Given the description of an element on the screen output the (x, y) to click on. 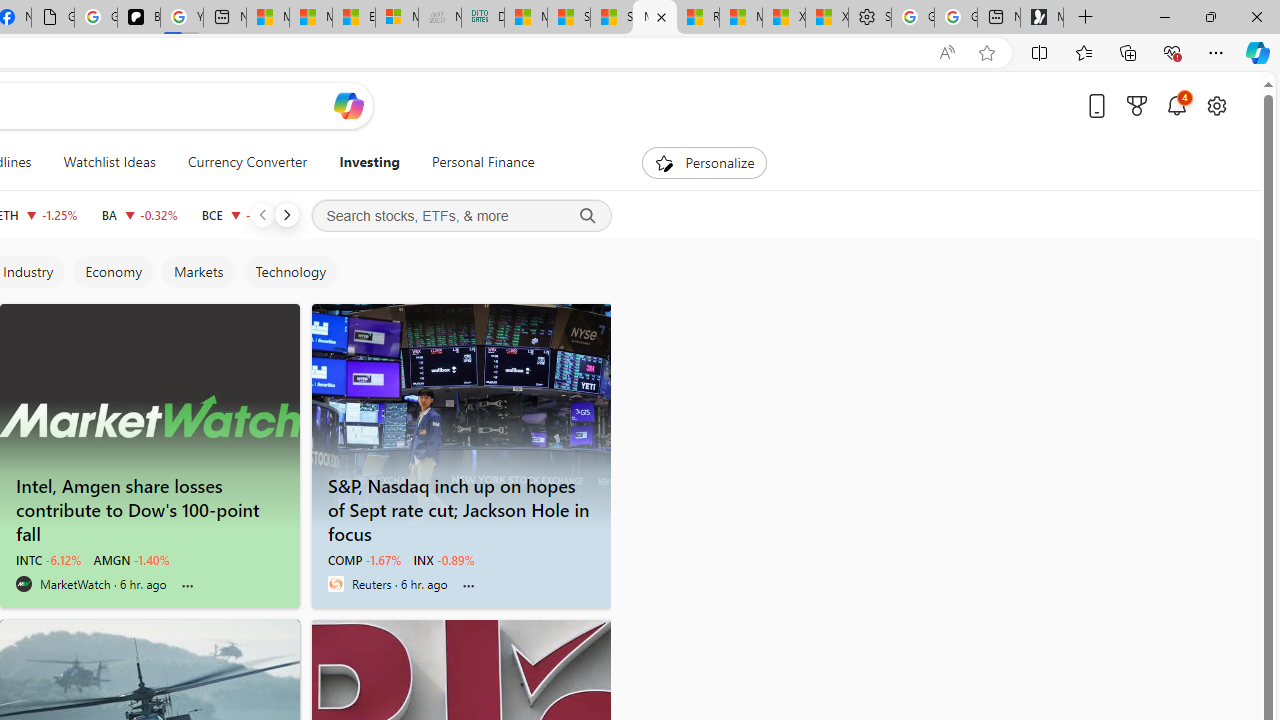
INX -0.89% (443, 560)
Investing (369, 162)
Personal Finance (483, 162)
AMGN -1.40% (131, 560)
BA THE BOEING COMPANY decrease 172.87 -0.56 -0.32% (139, 214)
INTC -6.12% (48, 560)
Economy (112, 272)
